Given the description of an element on the screen output the (x, y) to click on. 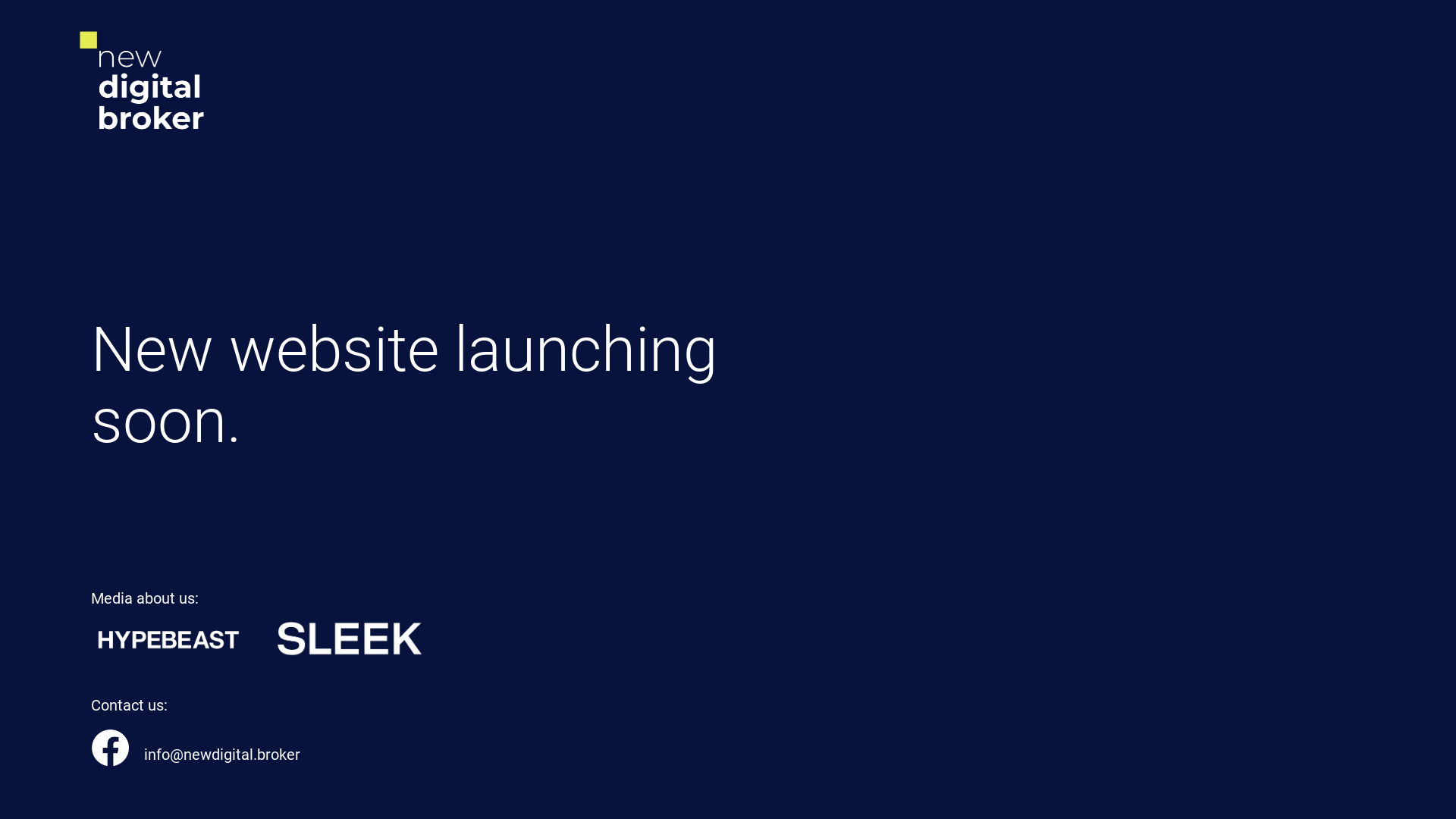
info@newdigital.broker Element type: text (222, 754)
